Given the description of an element on the screen output the (x, y) to click on. 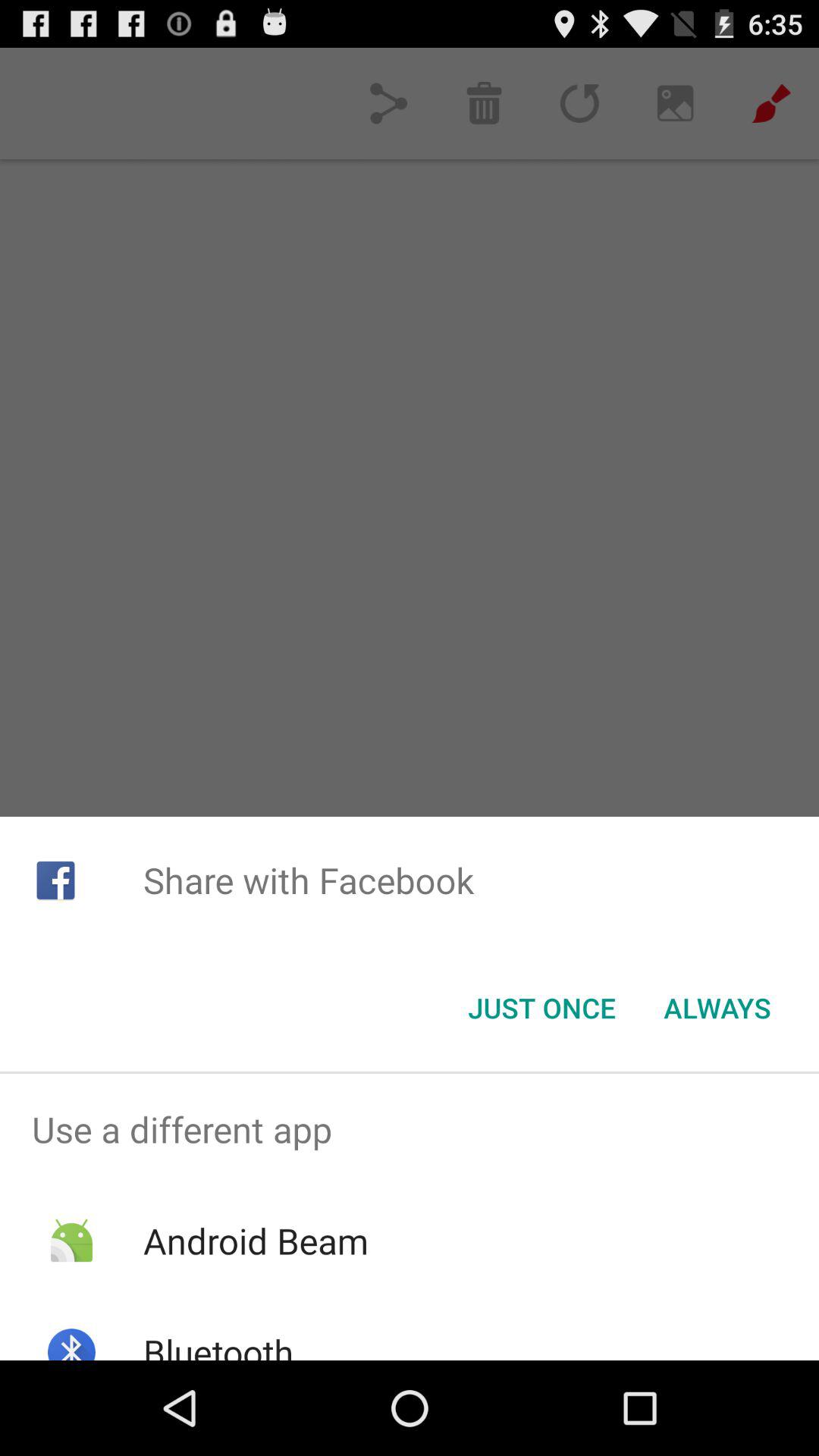
open button next to the always item (541, 1007)
